Given the description of an element on the screen output the (x, y) to click on. 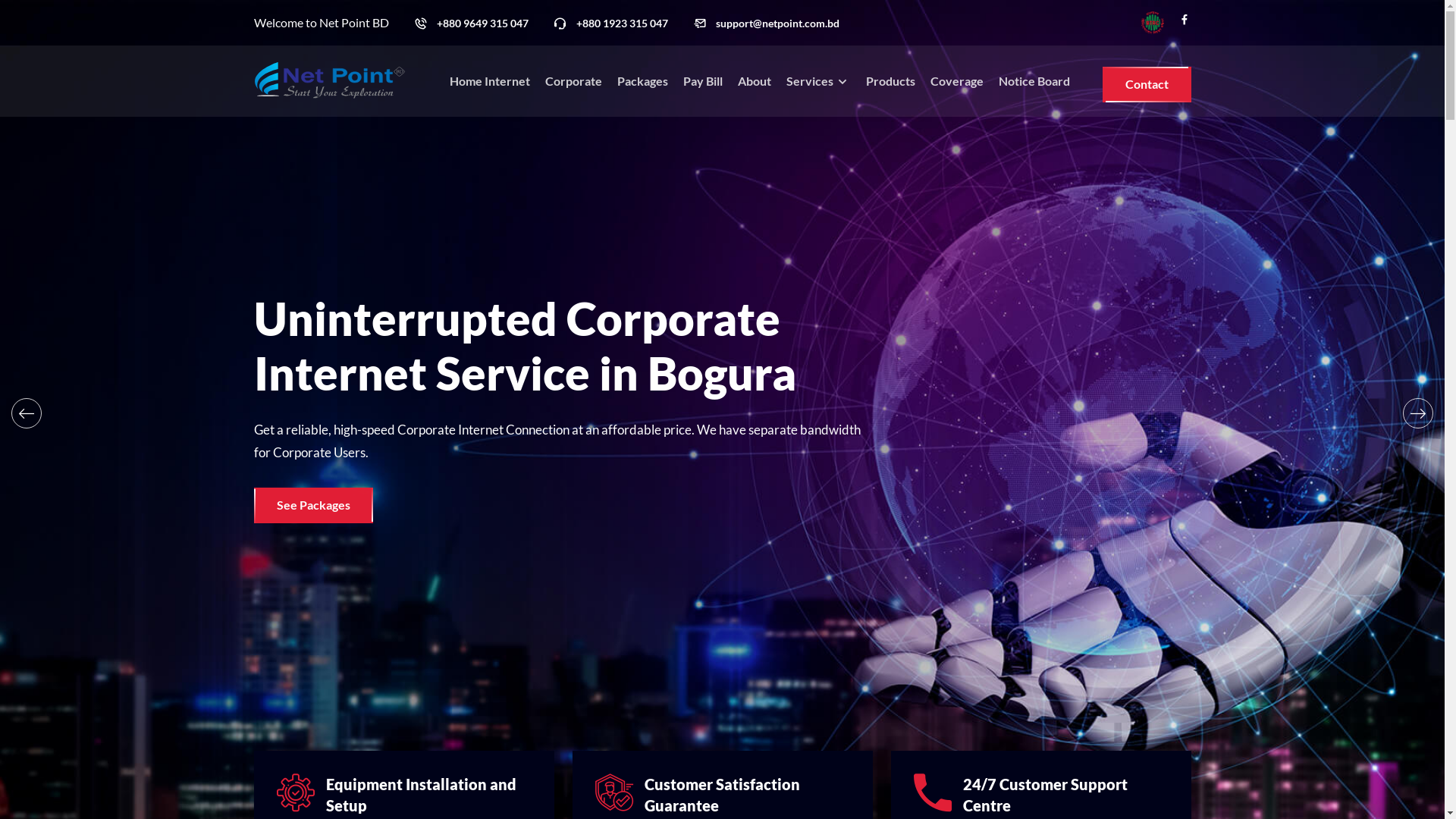
Services Element type: text (818, 80)
Home Internet Element type: text (489, 80)
Corporate Element type: text (573, 80)
Net Point BD Logo Element type: hover (328, 81)
Products Element type: text (890, 80)
See Packages Element type: text (312, 505)
Packages Element type: text (642, 80)
support@netpoint.com.bd Element type: text (777, 23)
Coverage Element type: text (956, 80)
About Element type: text (754, 80)
Pay Bill Element type: text (702, 80)
Notice Board Element type: text (1034, 80)
Contact Element type: text (1146, 84)
+880 9649 315 047 Element type: text (482, 23)
+880 1923 315 047 Element type: text (622, 23)
BTRC Logo Element type: hover (1151, 22)
